Given the description of an element on the screen output the (x, y) to click on. 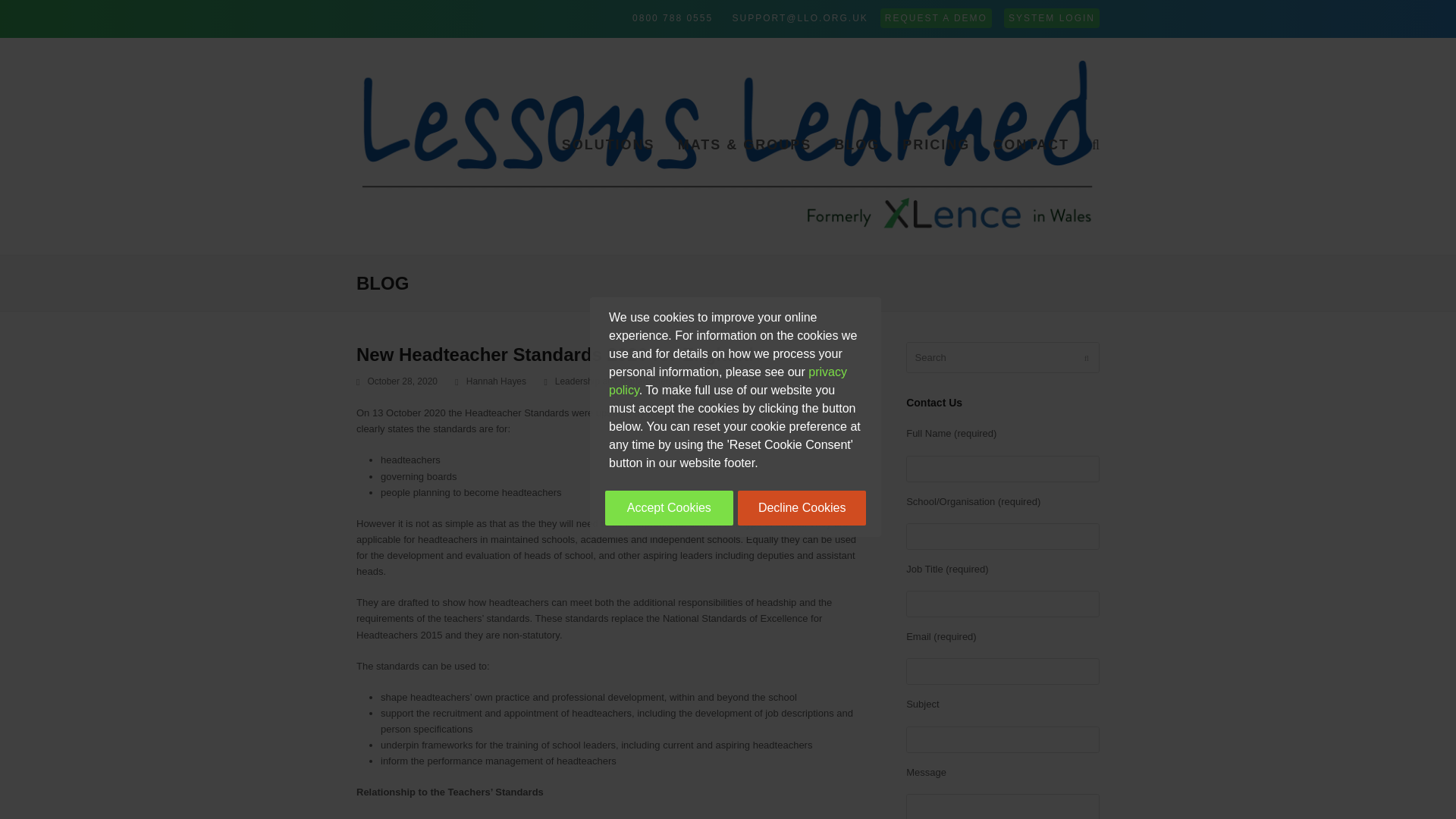
REQUEST A DEMO (935, 17)
CONTACT (1030, 146)
Leadership and Management (613, 380)
Posts by Hannah Hayes (495, 380)
SOLUTIONS (608, 146)
Submit (1086, 357)
Hannah Hayes (495, 380)
BLOG (856, 146)
PRICING (936, 146)
SYSTEM LOGIN (1051, 17)
